Given the description of an element on the screen output the (x, y) to click on. 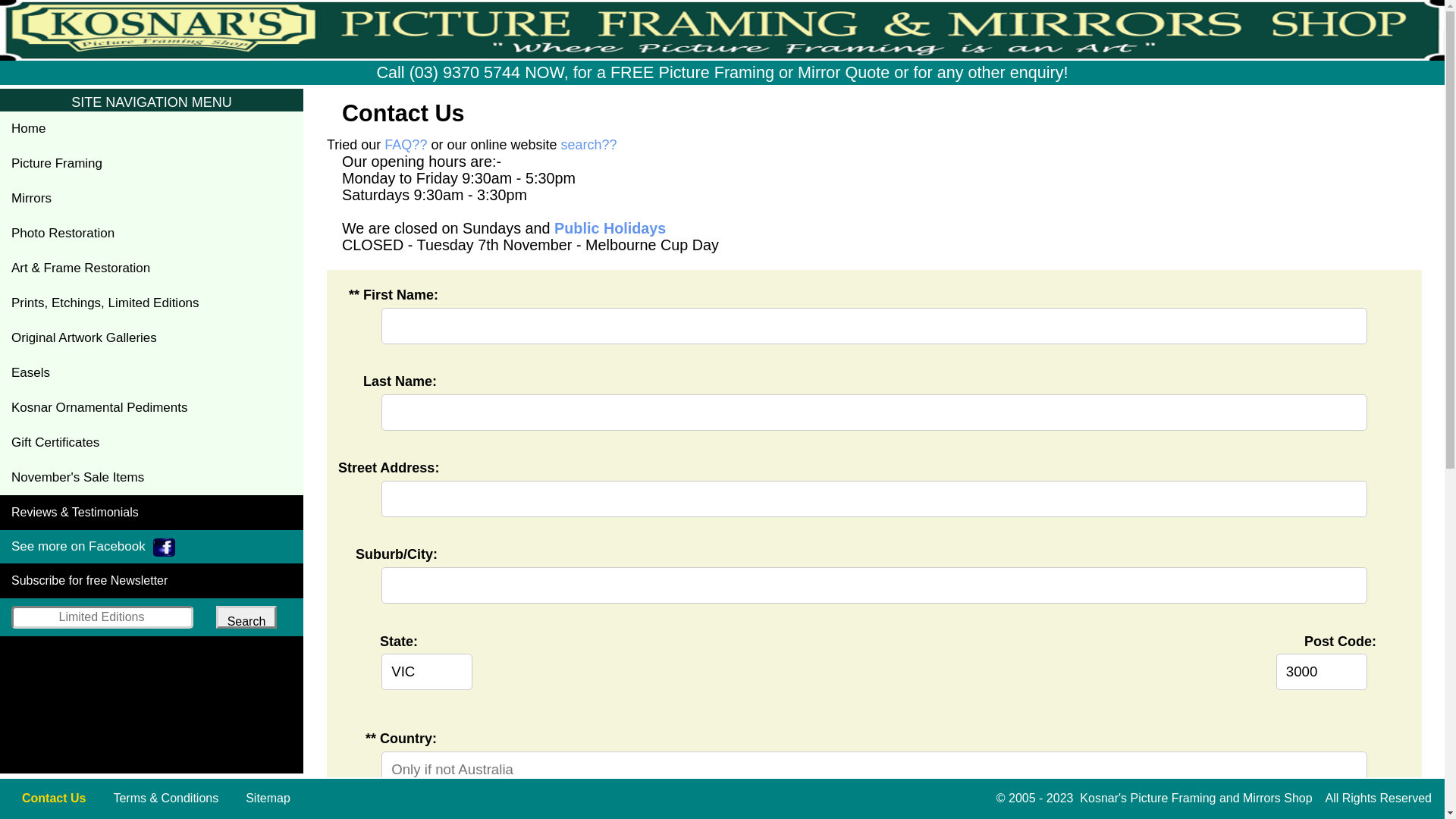
Home Element type: text (151, 128)
See more on Facebook  Element type: text (151, 546)
Gift Certificates Element type: text (151, 442)
Mirrors Element type: text (151, 198)
Reviews & Testimonials Element type: text (151, 512)
November's Sale Items Element type: text (151, 477)
Contact Us Element type: text (48, 798)
Kosnar Ornamental Pediments Element type: text (151, 407)
Picture Framing Element type: text (151, 163)
facebook Element type: hover (163, 546)
search?? Element type: text (589, 144)
Sitemap Element type: text (263, 798)
Photo Restoration Element type: text (151, 233)
Easels Element type: text (151, 372)
Search Element type: text (246, 616)
Art & Frame Restoration Element type: text (151, 268)
Large-Banner Element type: hover (722, 30)
Public Holidays Element type: text (609, 227)
Original Artwork Galleries Element type: text (151, 337)
Terms & Conditions Element type: text (160, 798)
Prints, Etchings, Limited Editions Element type: text (151, 302)
Subscribe for free Newsletter Element type: text (151, 580)
FAQ?? Element type: text (405, 144)
Type in what you want to find. Element type: hover (102, 616)
